Given the description of an element on the screen output the (x, y) to click on. 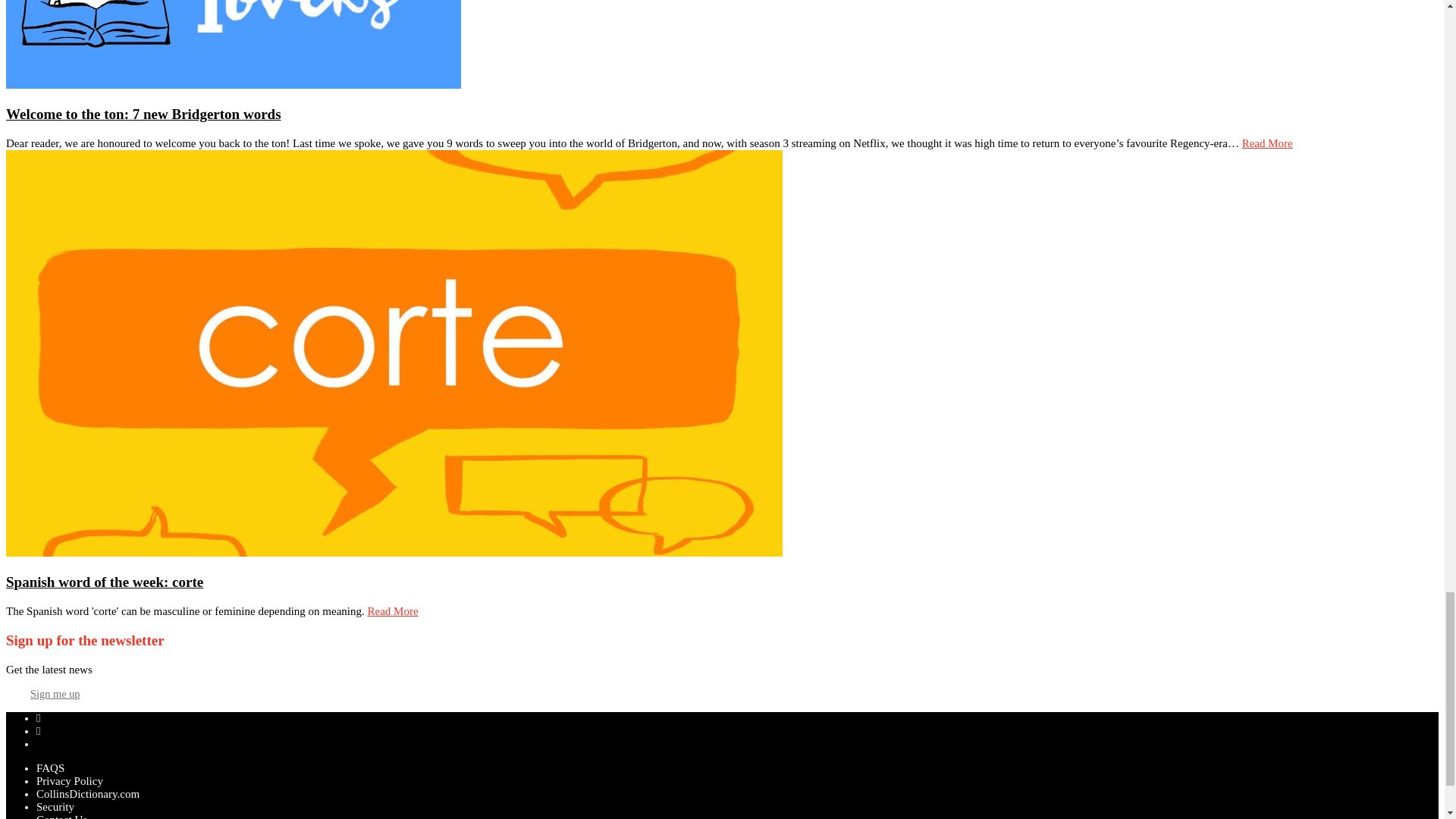
Spanish word of the week: corte (104, 581)
Read More (393, 611)
Welcome to the ton: 7 new Bridgerton words (143, 114)
Sign me up (54, 693)
Read More (1266, 143)
